Given the description of an element on the screen output the (x, y) to click on. 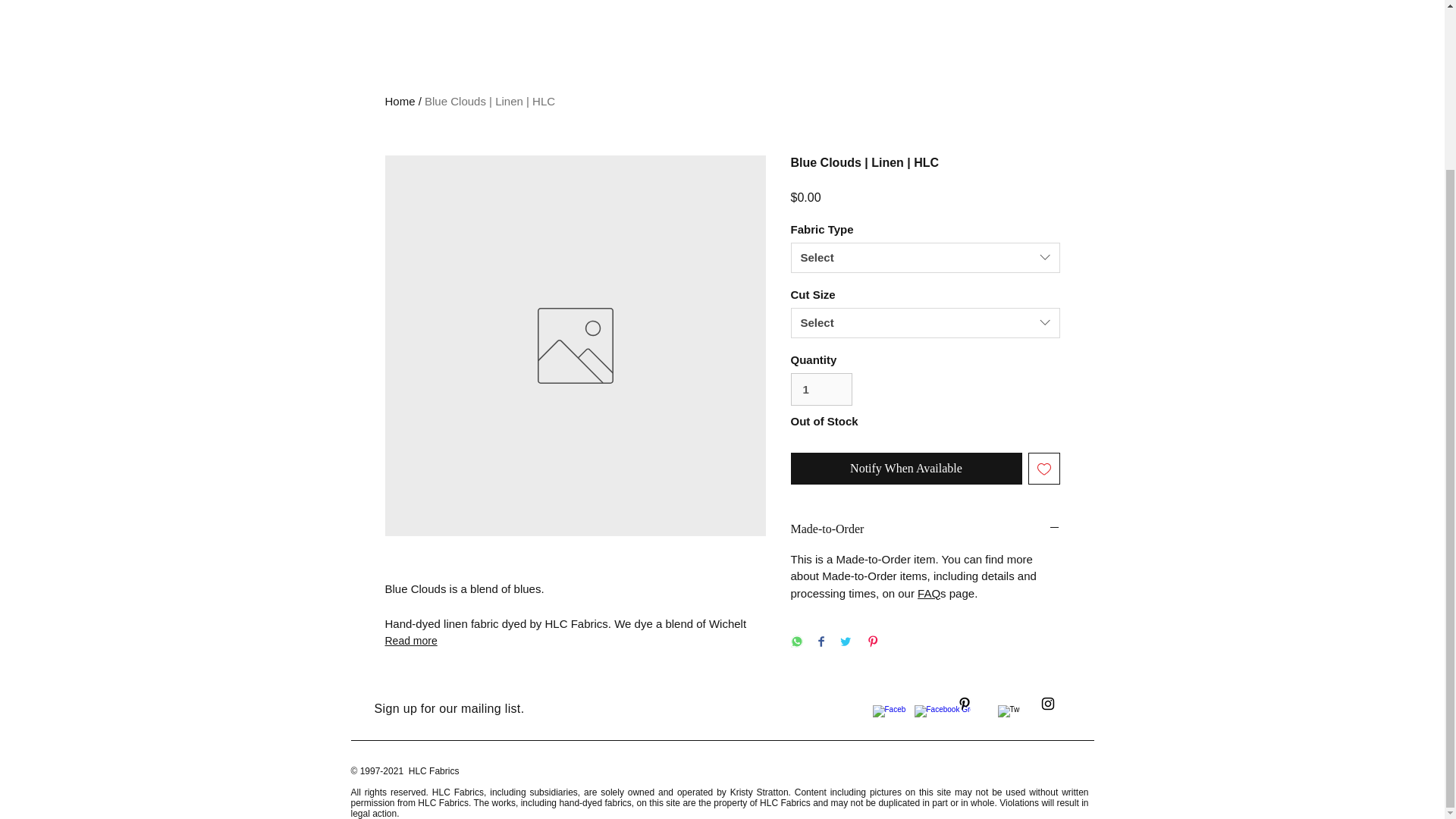
Select (924, 322)
Read more (574, 639)
Home (399, 101)
Select (924, 257)
1 (820, 389)
Notify When Available (906, 468)
